Given the description of an element on the screen output the (x, y) to click on. 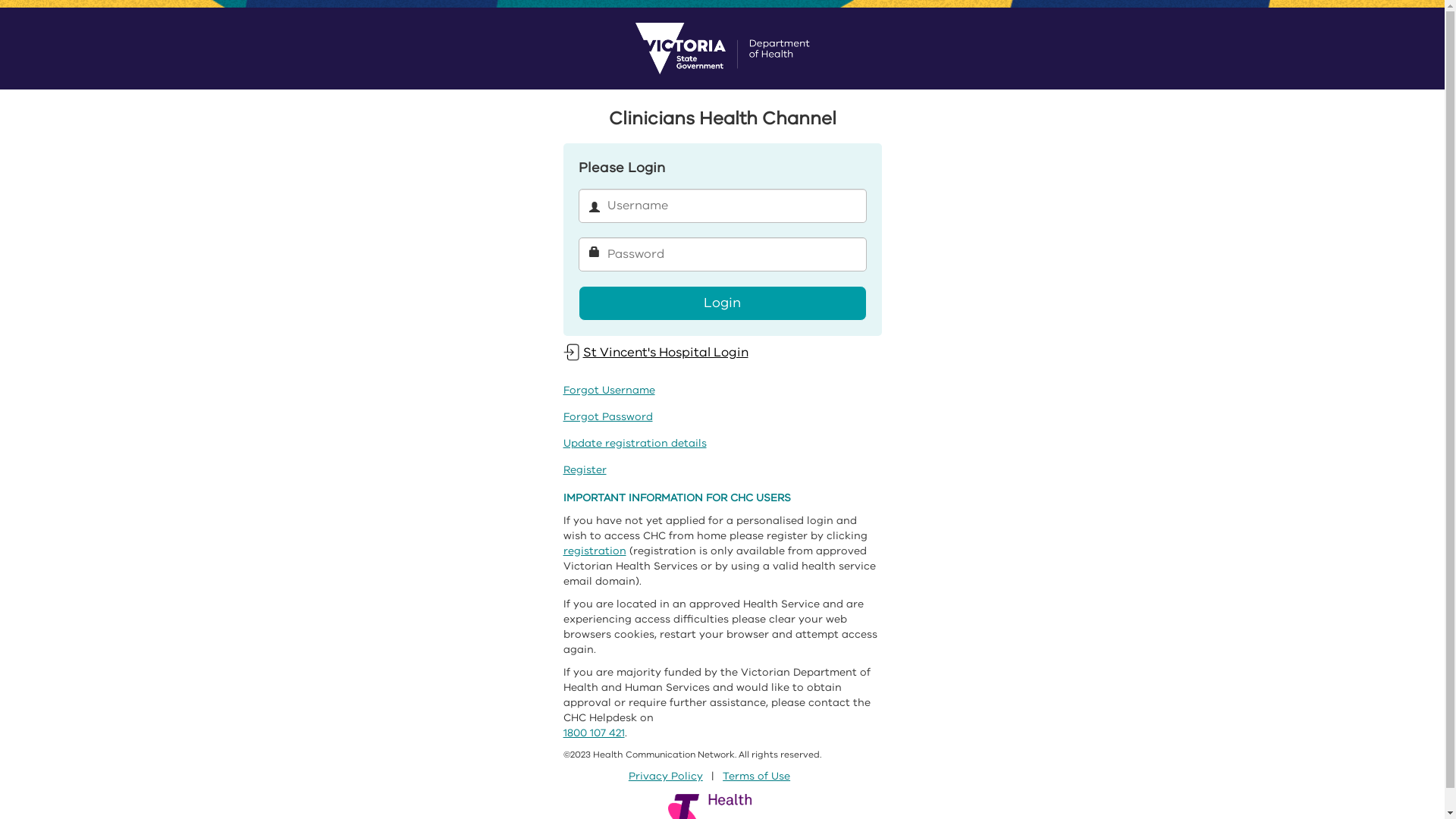
registration Element type: text (593, 550)
Register Element type: text (583, 469)
Terms of Use Element type: text (756, 775)
Privacy Policy Element type: text (665, 775)
Update registration details Element type: text (634, 443)
Forgot Password Element type: text (607, 416)
Login Element type: text (721, 302)
Forgot Username Element type: text (608, 389)
St Vincent's Hospital Login Element type: text (654, 351)
1800 107 421 Element type: text (593, 732)
